Given the description of an element on the screen output the (x, y) to click on. 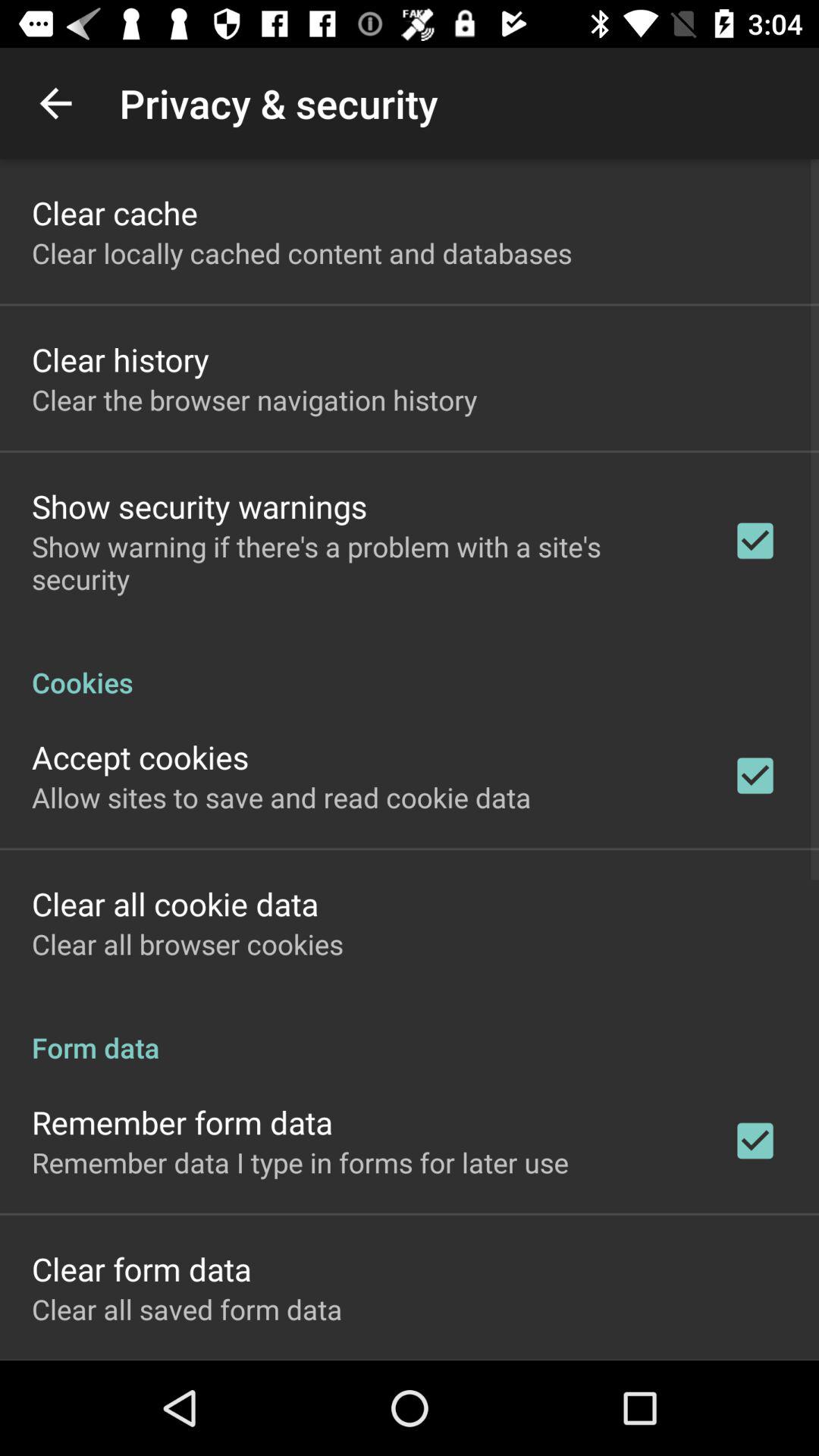
choose item above clear cache icon (55, 103)
